Given the description of an element on the screen output the (x, y) to click on. 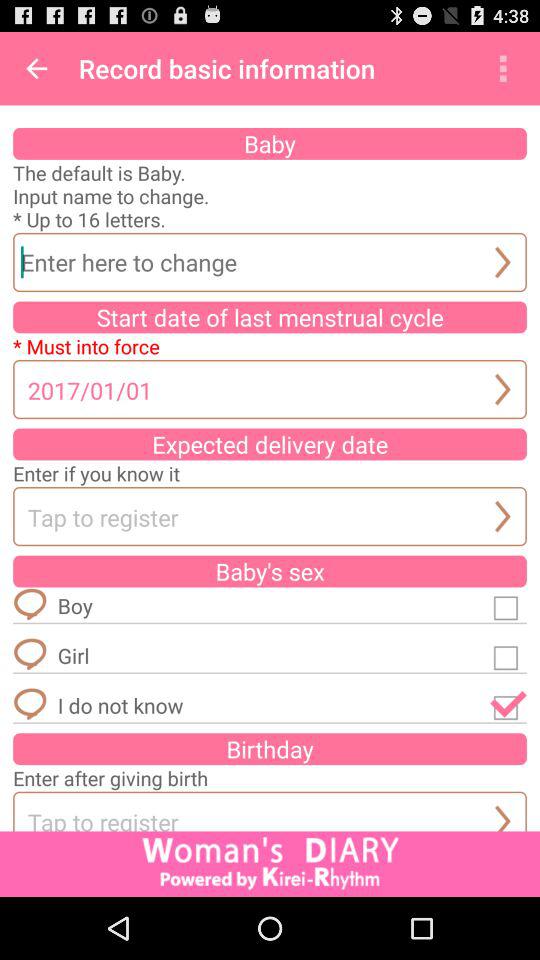
this button was select option (508, 705)
